Given the description of an element on the screen output the (x, y) to click on. 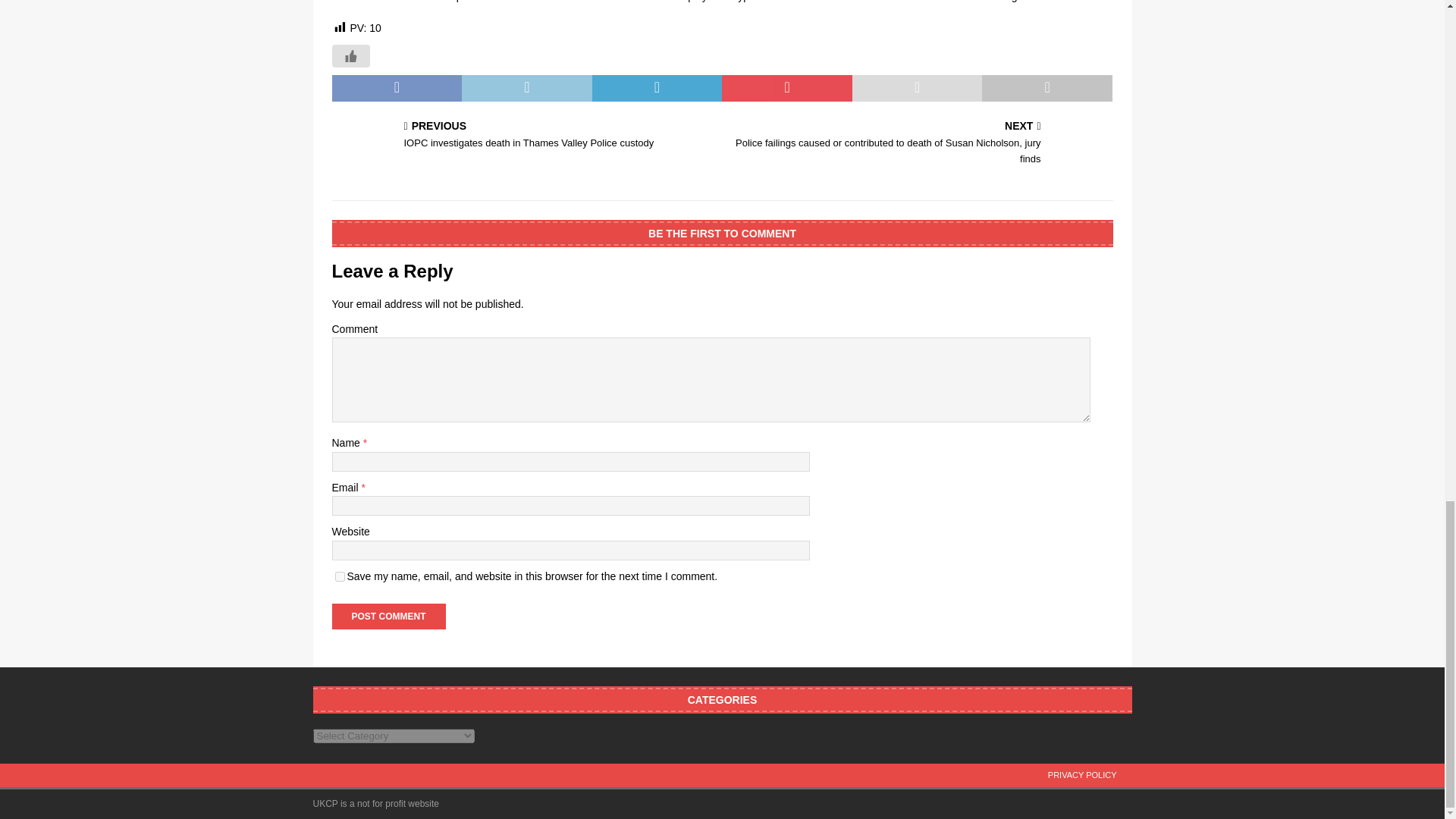
Post Comment (388, 616)
yes (339, 576)
